Given the description of an element on the screen output the (x, y) to click on. 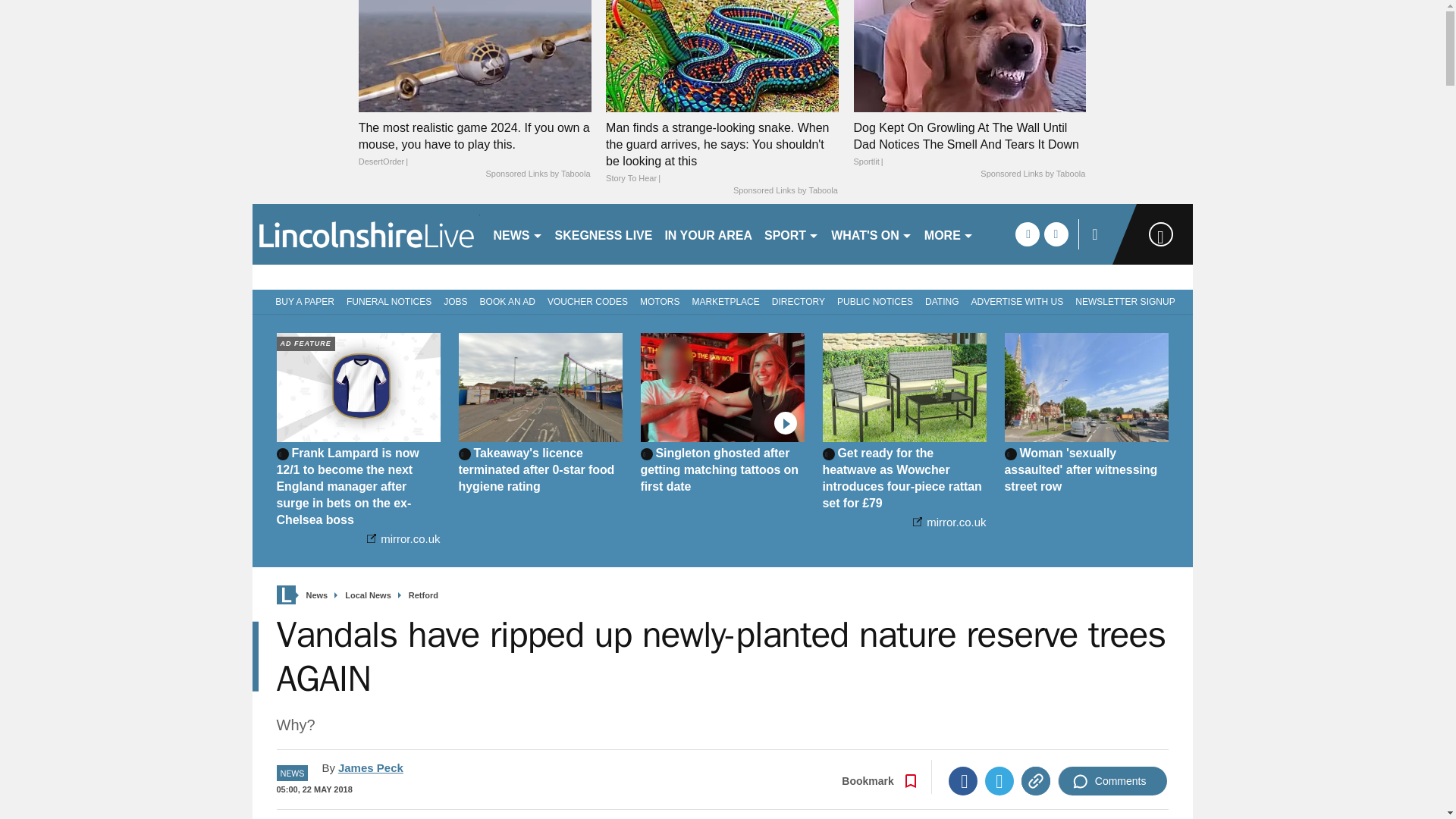
IN YOUR AREA (708, 233)
twitter (1055, 233)
WHAT'S ON (871, 233)
Twitter (999, 780)
lincolnshirelive (365, 233)
SKEGNESS LIVE (603, 233)
Sponsored Links by Taboola (536, 174)
SPORT (791, 233)
facebook (1026, 233)
Comments (1112, 780)
